Given the description of an element on the screen output the (x, y) to click on. 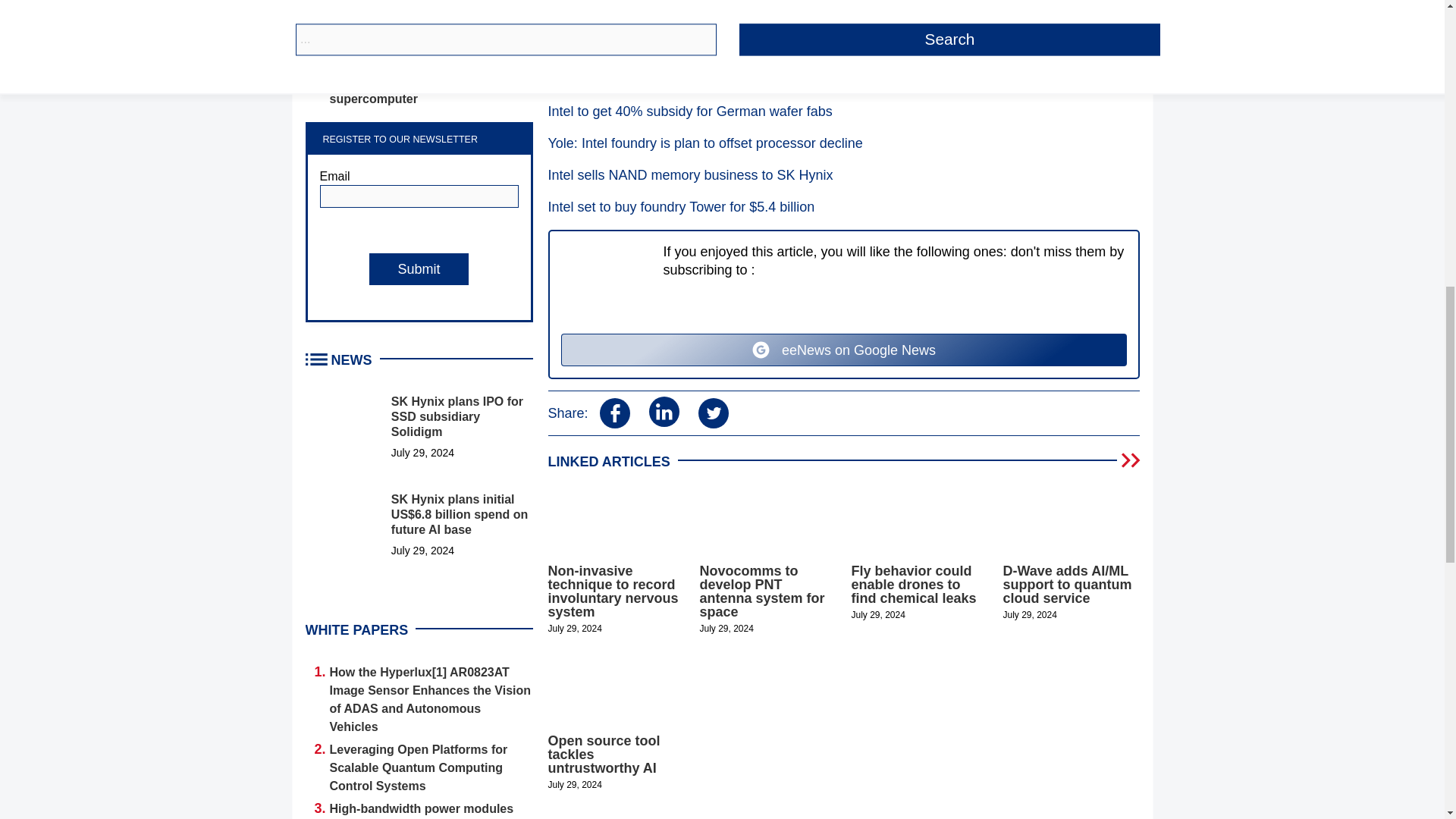
Submit (418, 269)
